Given the description of an element on the screen output the (x, y) to click on. 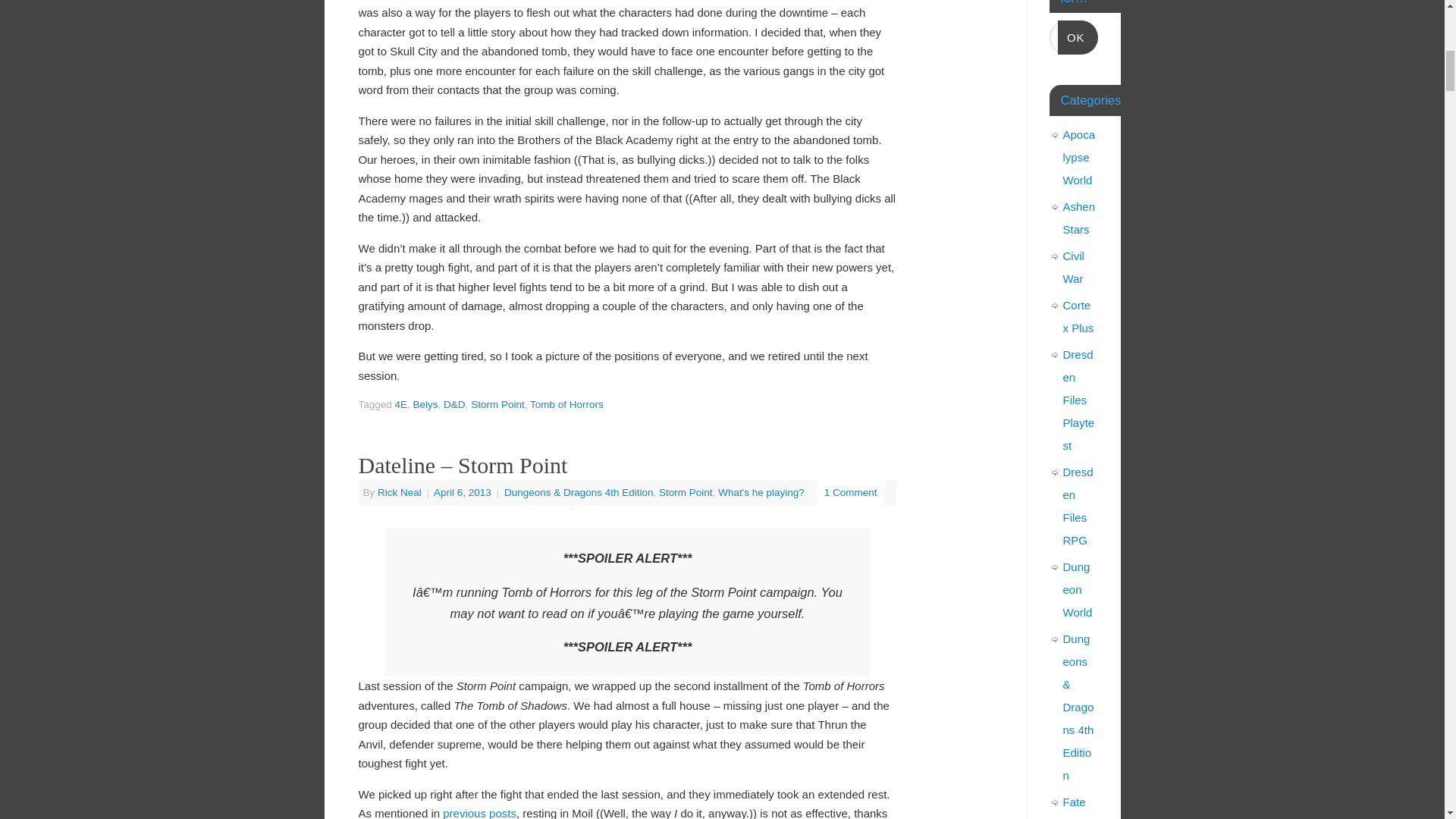
2:58 pm (464, 491)
View all posts by Rick Neal (399, 491)
